Given the description of an element on the screen output the (x, y) to click on. 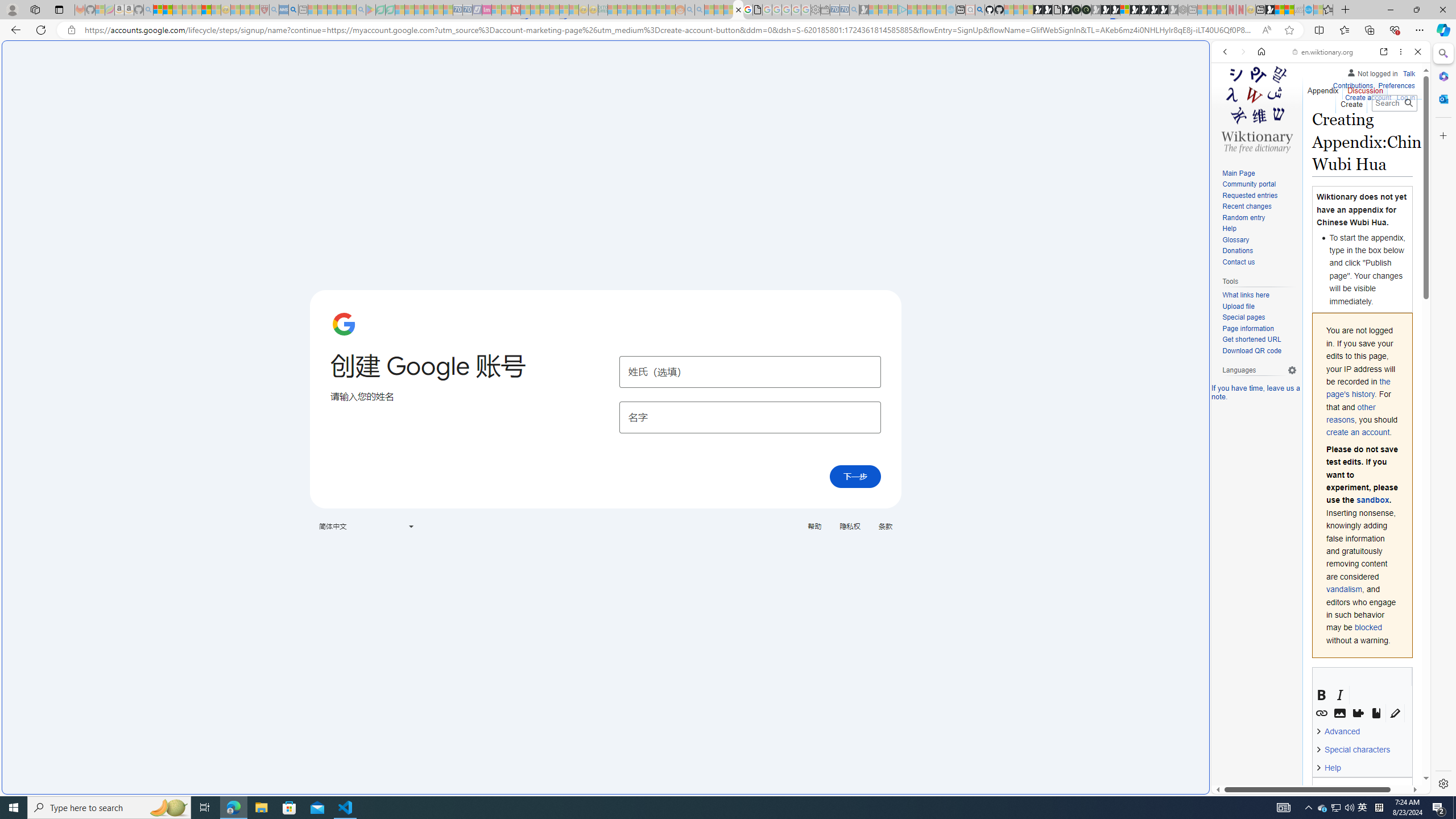
Create (1351, 101)
Appendix (1323, 87)
vandalism (1344, 589)
